Given the description of an element on the screen output the (x, y) to click on. 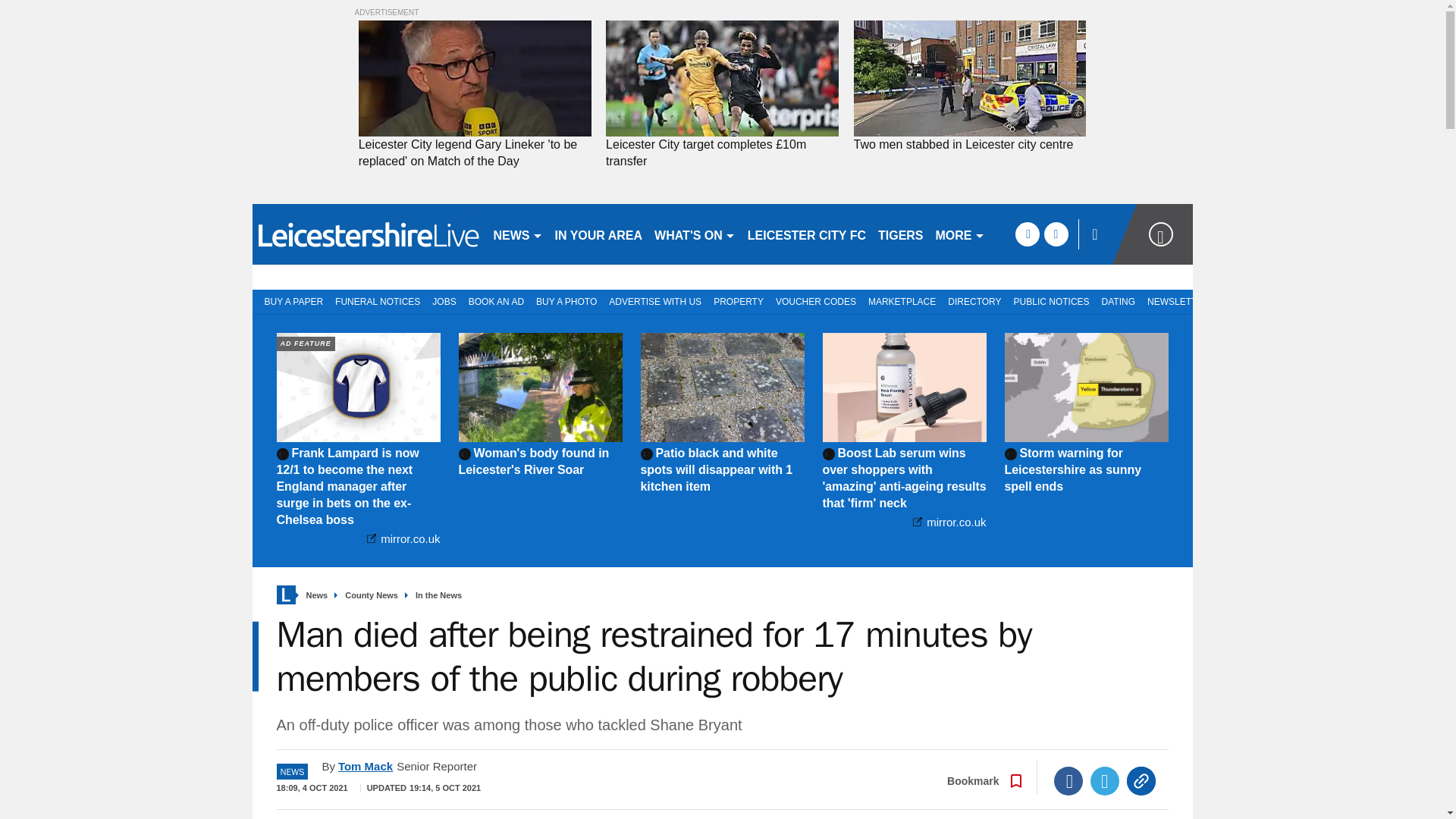
Two men stabbed in Leicester city centre (969, 144)
TIGERS (901, 233)
Facebook (1068, 780)
IN YOUR AREA (598, 233)
Twitter (1104, 780)
Two men stabbed in Leicester city centre (969, 78)
leicestermercury (365, 233)
LEICESTER CITY FC (806, 233)
Two men stabbed in Leicester city centre (969, 144)
NEWS (517, 233)
MORE (960, 233)
WHAT'S ON (694, 233)
twitter (1055, 233)
